Given the description of an element on the screen output the (x, y) to click on. 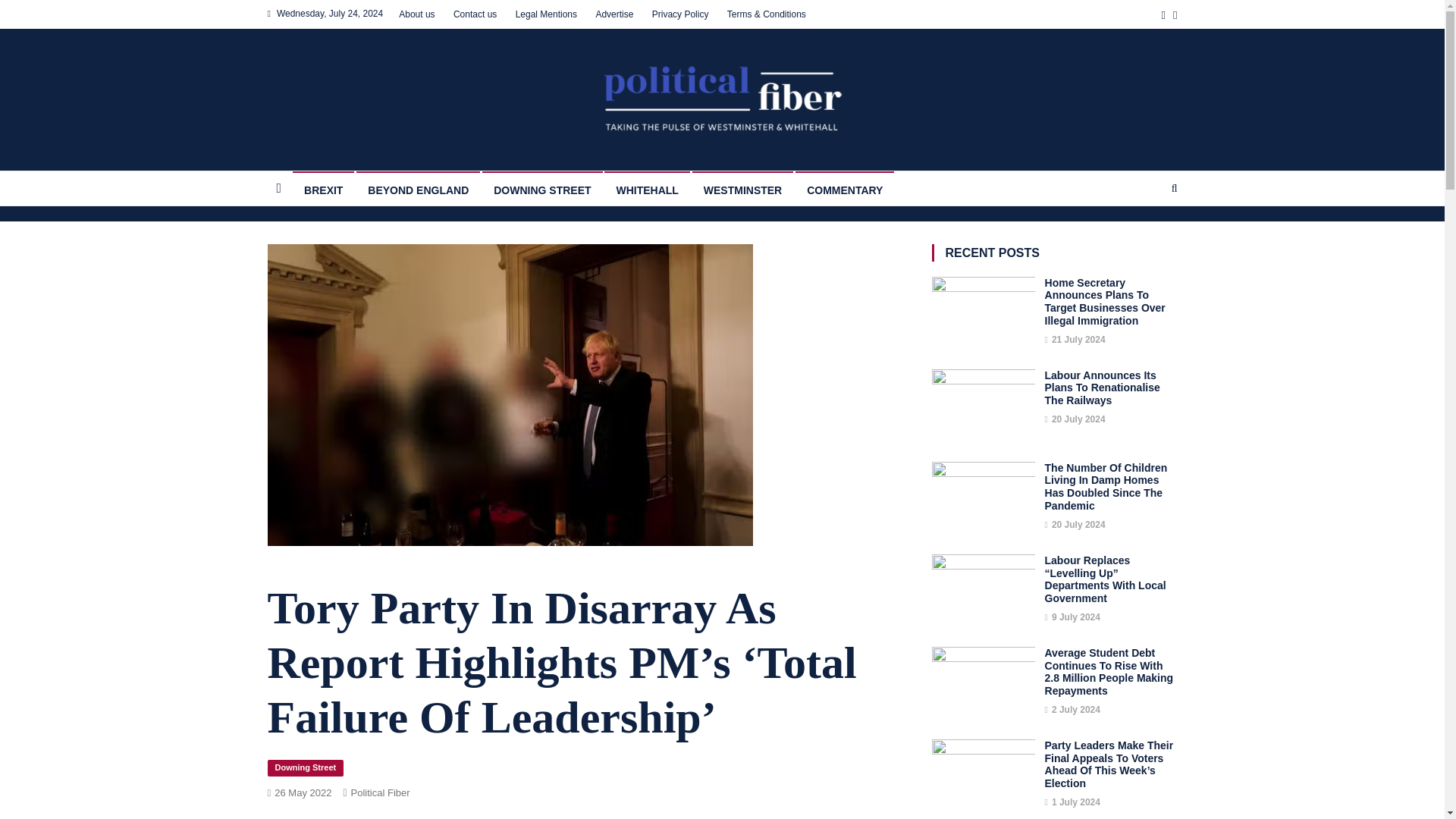
Downing Street (304, 768)
DOWNING STREET (541, 187)
Political Fiber (380, 792)
Privacy Policy (680, 14)
BEYOND ENGLAND (418, 187)
BREXIT (322, 187)
26 May 2022 (303, 792)
Legal Mentions (545, 14)
WHITEHALL (646, 187)
WESTMINSTER (743, 187)
About us (415, 14)
GO (1145, 241)
Contact us (474, 14)
COMMENTARY (843, 187)
Advertise (614, 14)
